Given the description of an element on the screen output the (x, y) to click on. 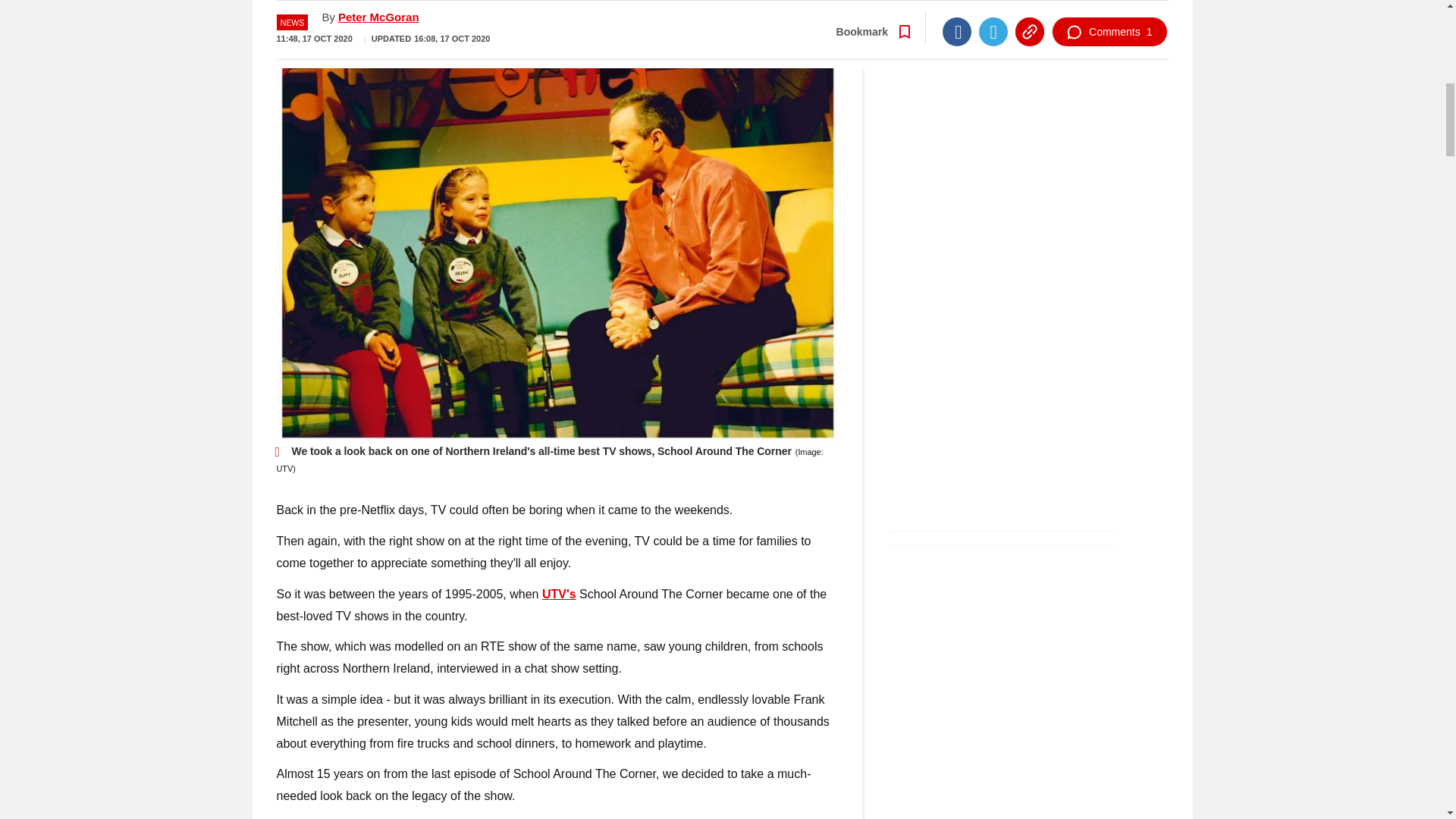
Facebook (956, 22)
Twitter (992, 22)
Comments (1108, 22)
